Given the description of an element on the screen output the (x, y) to click on. 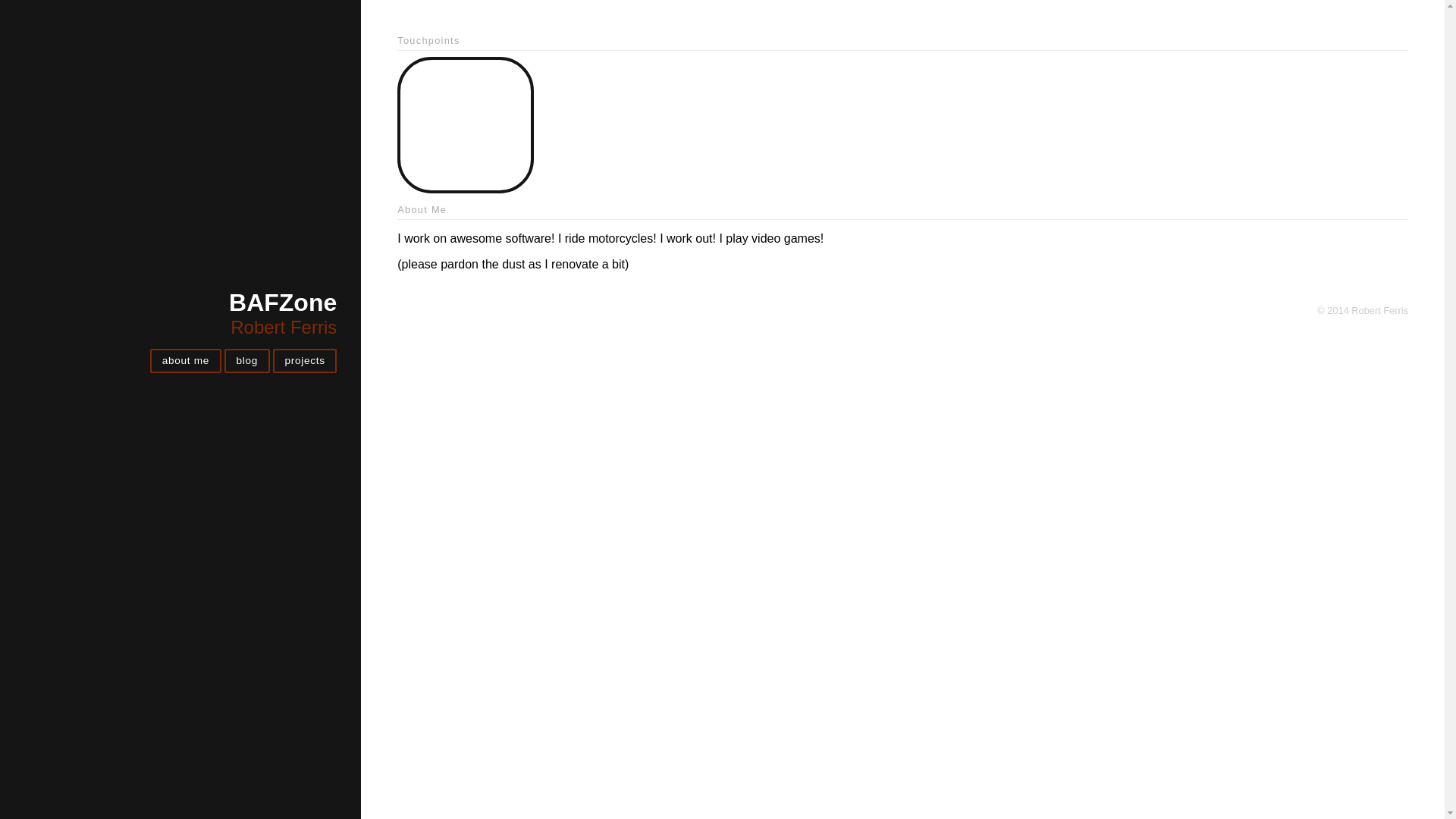
blog Element type: text (246, 360)
about me Element type: text (185, 360)
projects Element type: text (304, 360)
